Given the description of an element on the screen output the (x, y) to click on. 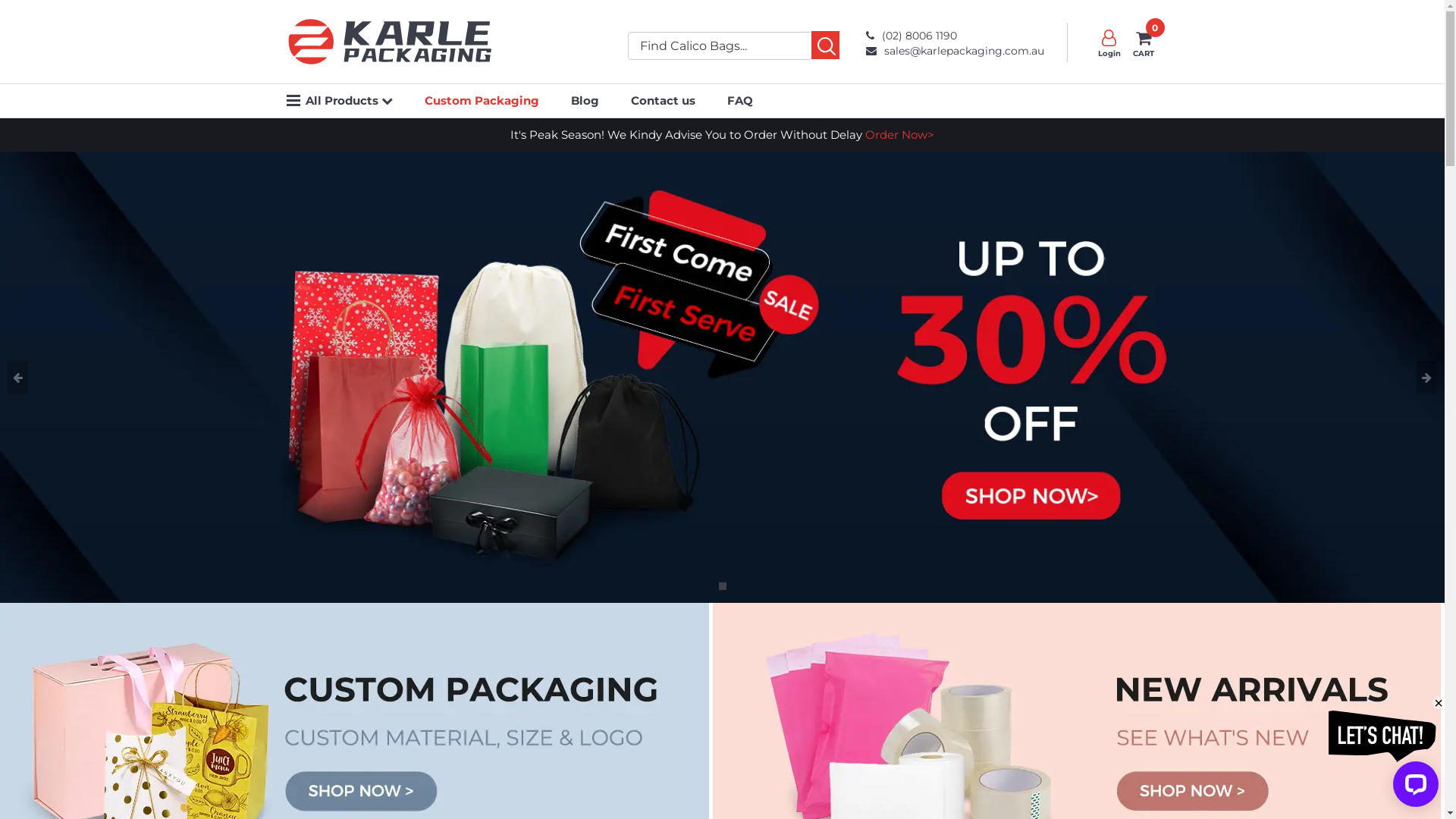
Contact us Element type: text (662, 100)
Order Now> Element type: text (899, 134)
FAQ Element type: text (739, 100)
0
CART Element type: text (1143, 42)
sales@karlepackaging.com.au Element type: text (955, 52)
All Products Element type: text (348, 100)
Login Element type: text (1109, 42)
(02) 8006 1190 Element type: text (955, 32)
Custom Packaging Element type: text (481, 100)
Blog Element type: text (584, 100)
